Given the description of an element on the screen output the (x, y) to click on. 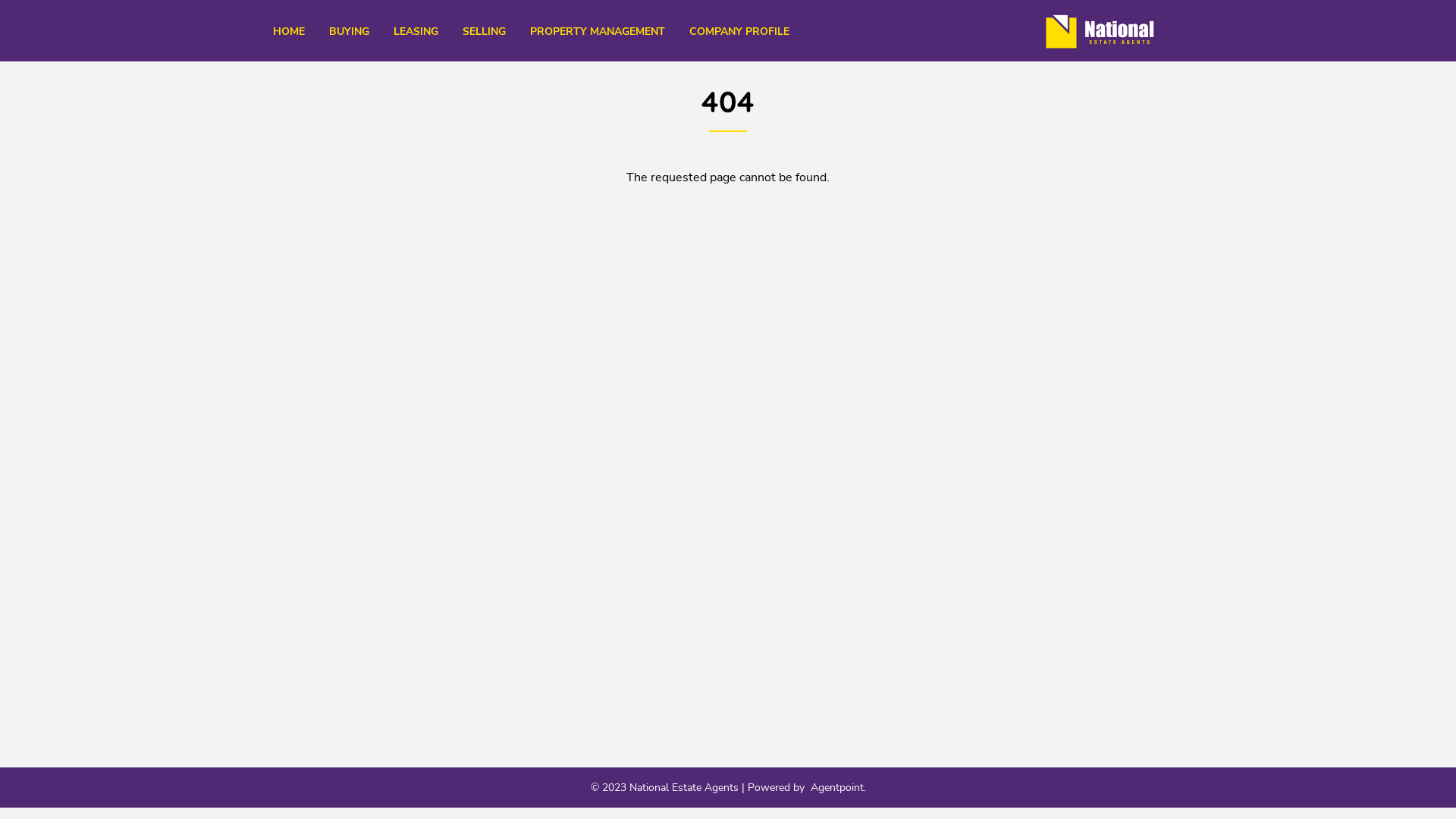
PROPERTY MANAGEMENT Element type: text (597, 31)
SELLING Element type: text (483, 31)
HOME Element type: text (288, 31)
Agentpoint Element type: text (835, 787)
BUYING Element type: text (349, 31)
LEASING Element type: text (415, 31)
COMPANY PROFILE Element type: text (739, 31)
